Given the description of an element on the screen output the (x, y) to click on. 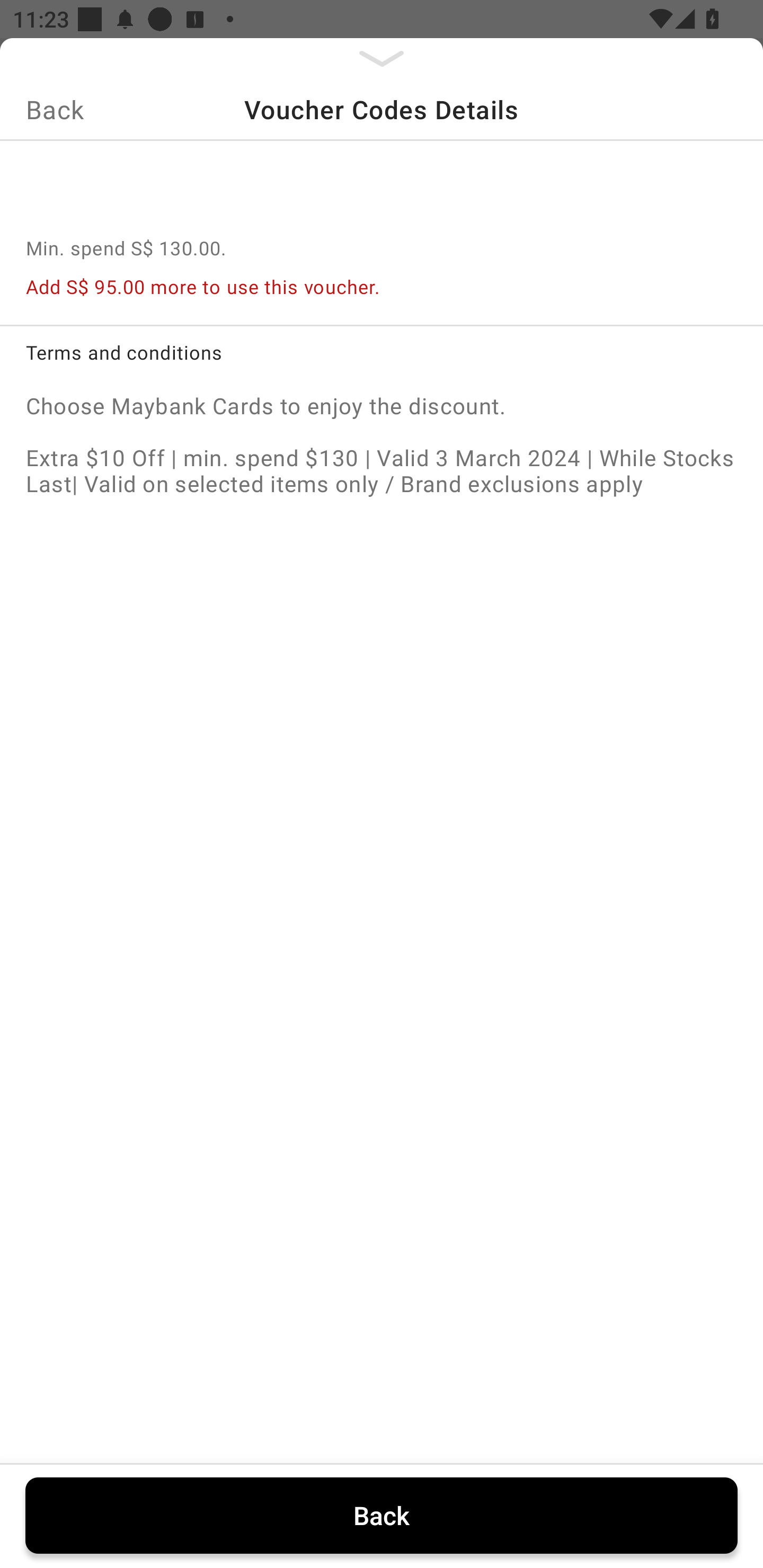
Back (54, 109)
Back (381, 1515)
